Given the description of an element on the screen output the (x, y) to click on. 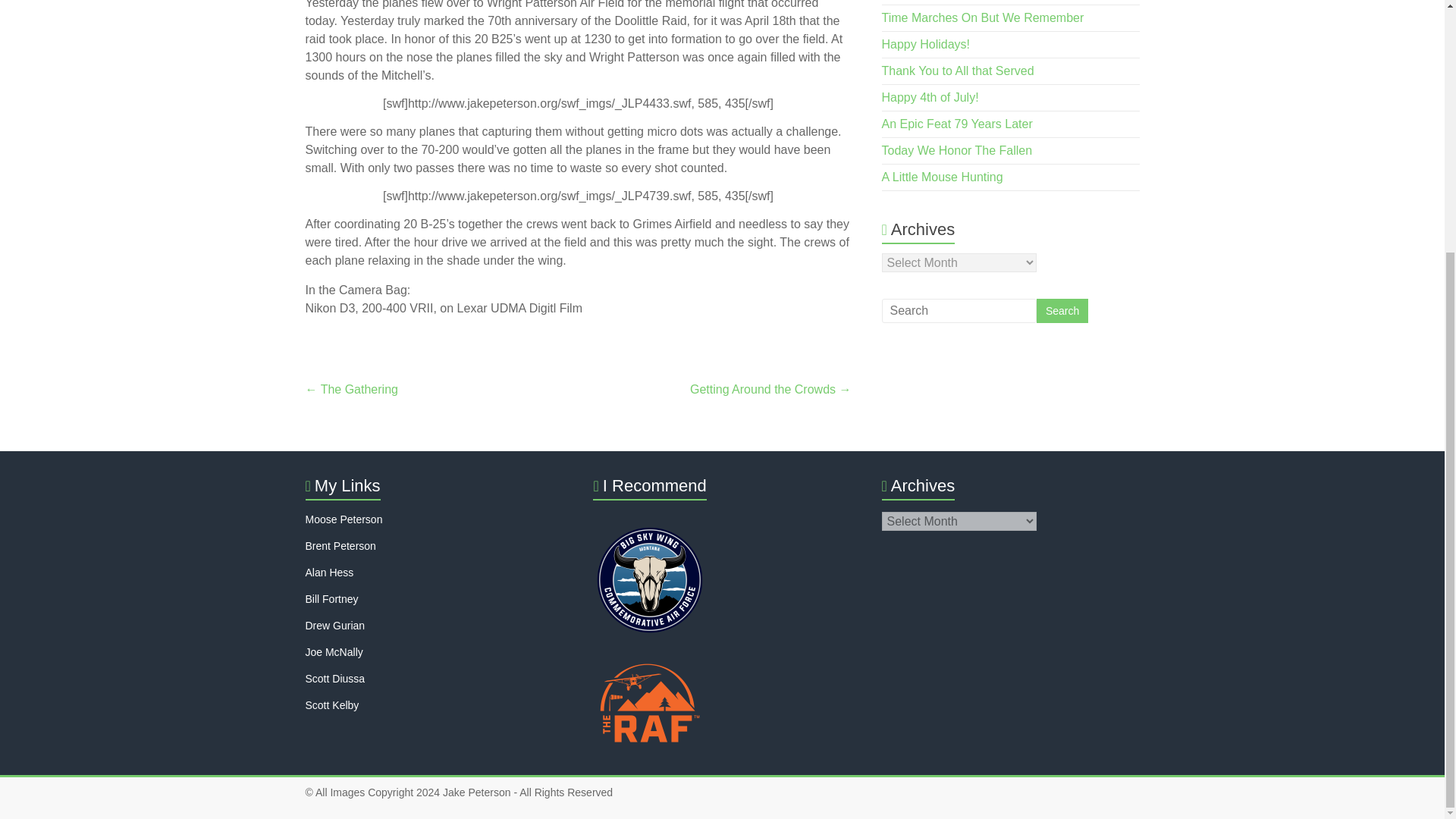
Brent Peterson (339, 545)
Happy Holidays! (926, 43)
Moose Peterson (342, 519)
Alan Hess (328, 572)
Time Marches On But We Remember (983, 17)
Happy 4th of July! (930, 97)
Search (1061, 310)
An Epic Feat 79 Years Later (957, 123)
Today We Honor The Fallen (957, 150)
Drew Gurian (334, 625)
